Given the description of an element on the screen output the (x, y) to click on. 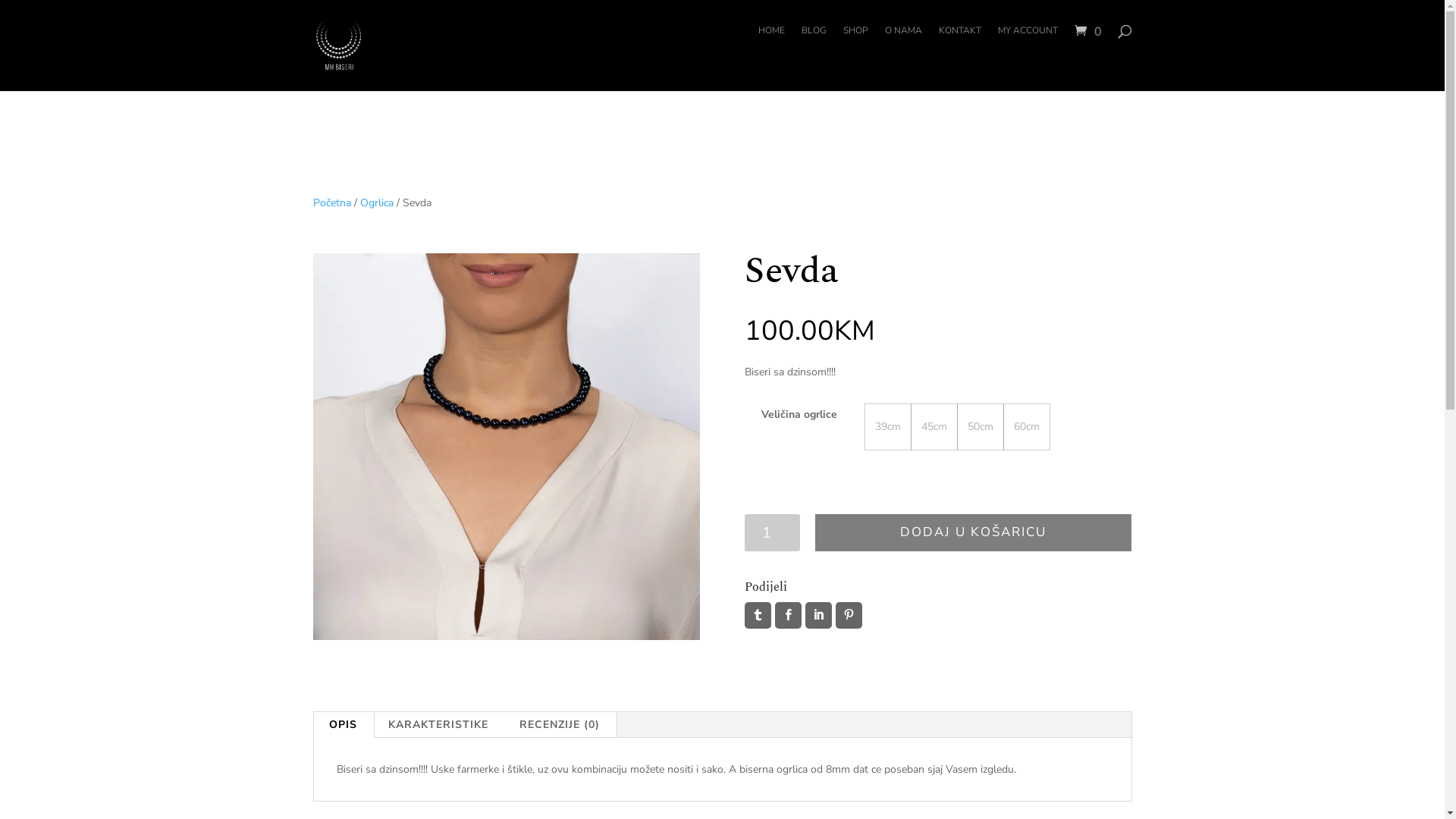
MY ACCOUNT Element type: text (1027, 42)
LinkedIn Element type: text (818, 615)
Sevda Element type: hover (505, 636)
SHOP Element type: text (855, 42)
0 Element type: text (1087, 31)
Twitter Element type: text (757, 615)
Sevda Element type: hover (505, 446)
RECENZIJE (0) Element type: text (558, 724)
Ogrlica Element type: text (375, 202)
HOME Element type: text (771, 42)
KONTAKT Element type: text (959, 42)
O NAMA Element type: text (902, 42)
Pin it Element type: text (848, 615)
OPIS Element type: text (342, 724)
Facebook Element type: text (788, 615)
KARAKTERISTIKE Element type: text (438, 724)
BLOG Element type: text (812, 42)
